Given the description of an element on the screen output the (x, y) to click on. 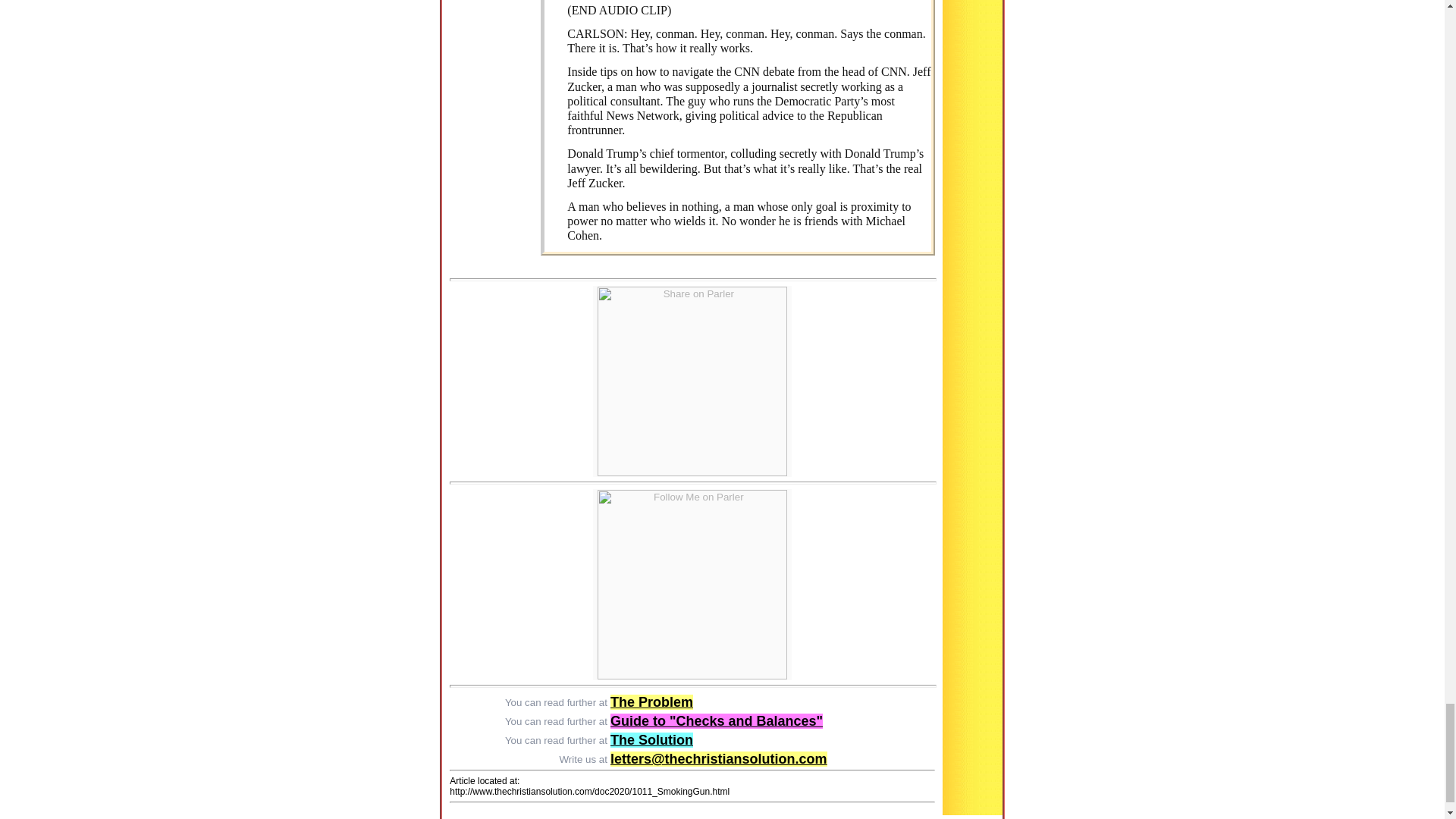
The Problem (651, 702)
The Solution (651, 739)
Guide to "Checks and Balances" (716, 720)
